Given the description of an element on the screen output the (x, y) to click on. 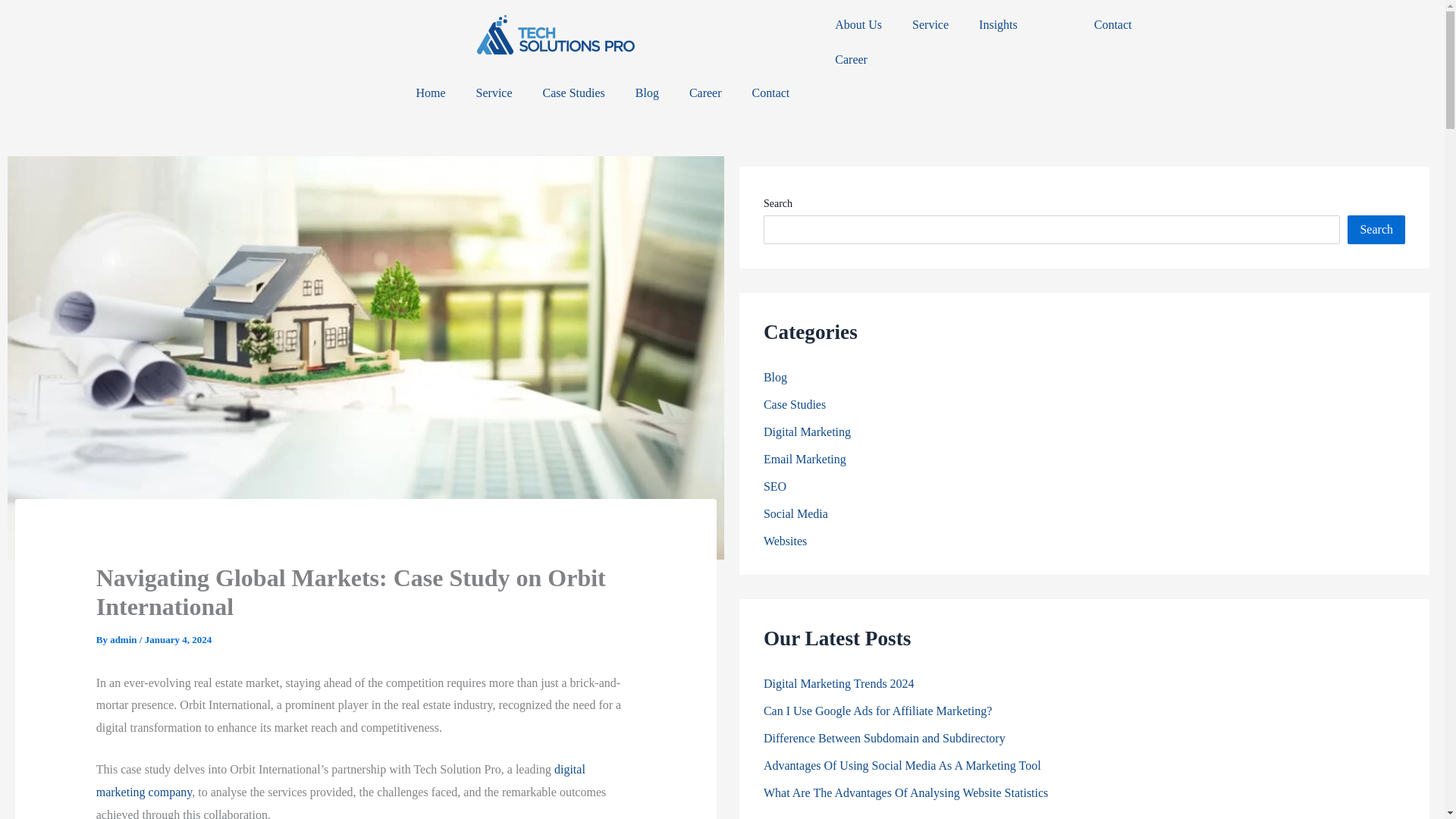
Home (430, 93)
Blog (647, 93)
Service (929, 24)
About Us (857, 24)
Case Studies (573, 93)
Service (494, 93)
View all posts by admin (124, 639)
Contact (770, 93)
Career (705, 93)
